Given the description of an element on the screen output the (x, y) to click on. 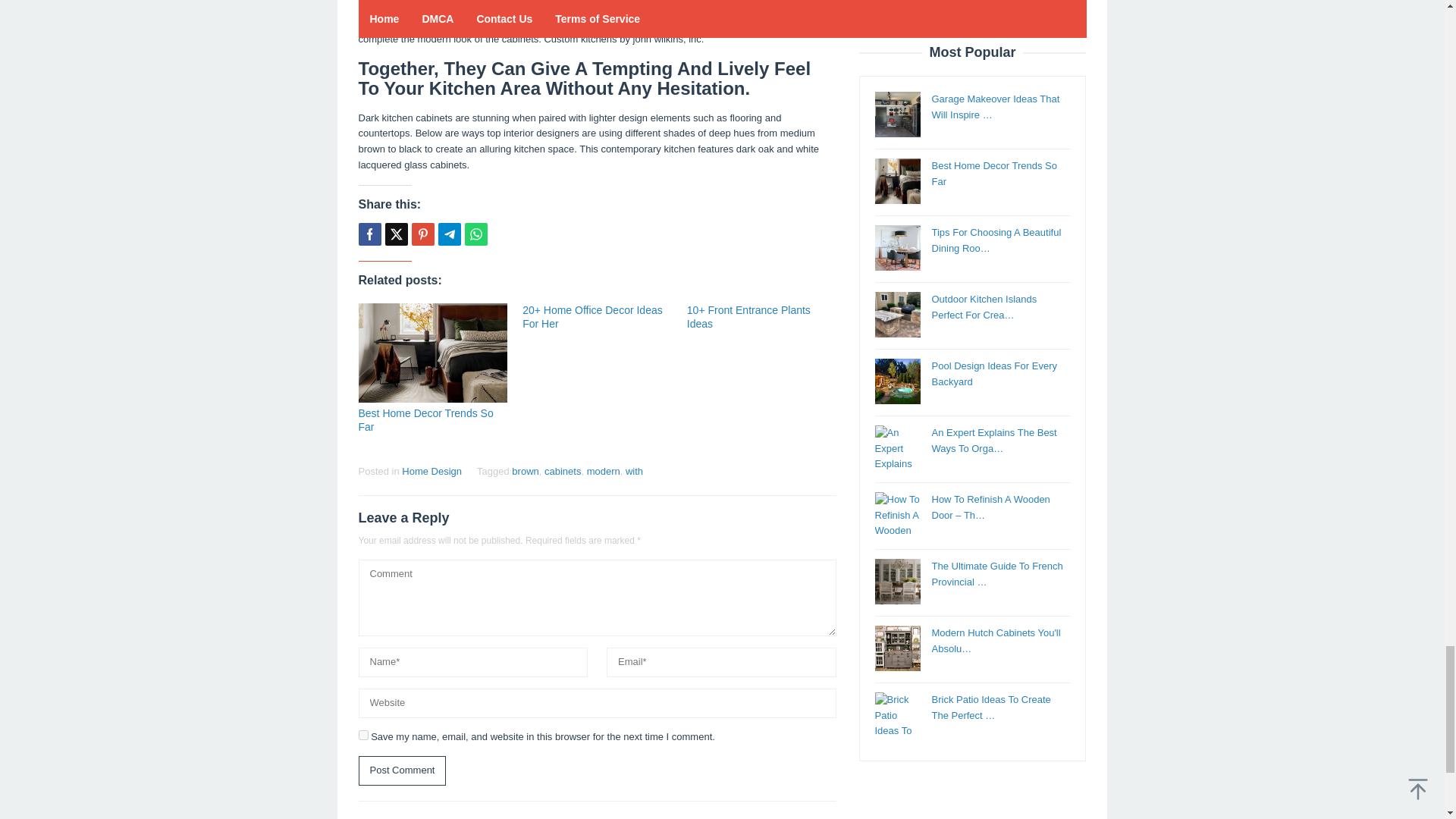
with (634, 471)
Best Home Decor Trends So Far (425, 420)
Telegram Share (449, 233)
Post Comment (401, 770)
Whatsapp (475, 233)
modern (603, 471)
yes (363, 735)
Permalink to: Best Home Decor Trends So Far (432, 352)
Tweet this (396, 233)
Pin this (421, 233)
Permalink to: Best Home Decor Trends So Far (425, 420)
Home Design (431, 471)
brown (525, 471)
cabinets (562, 471)
Post Comment (401, 770)
